Given the description of an element on the screen output the (x, y) to click on. 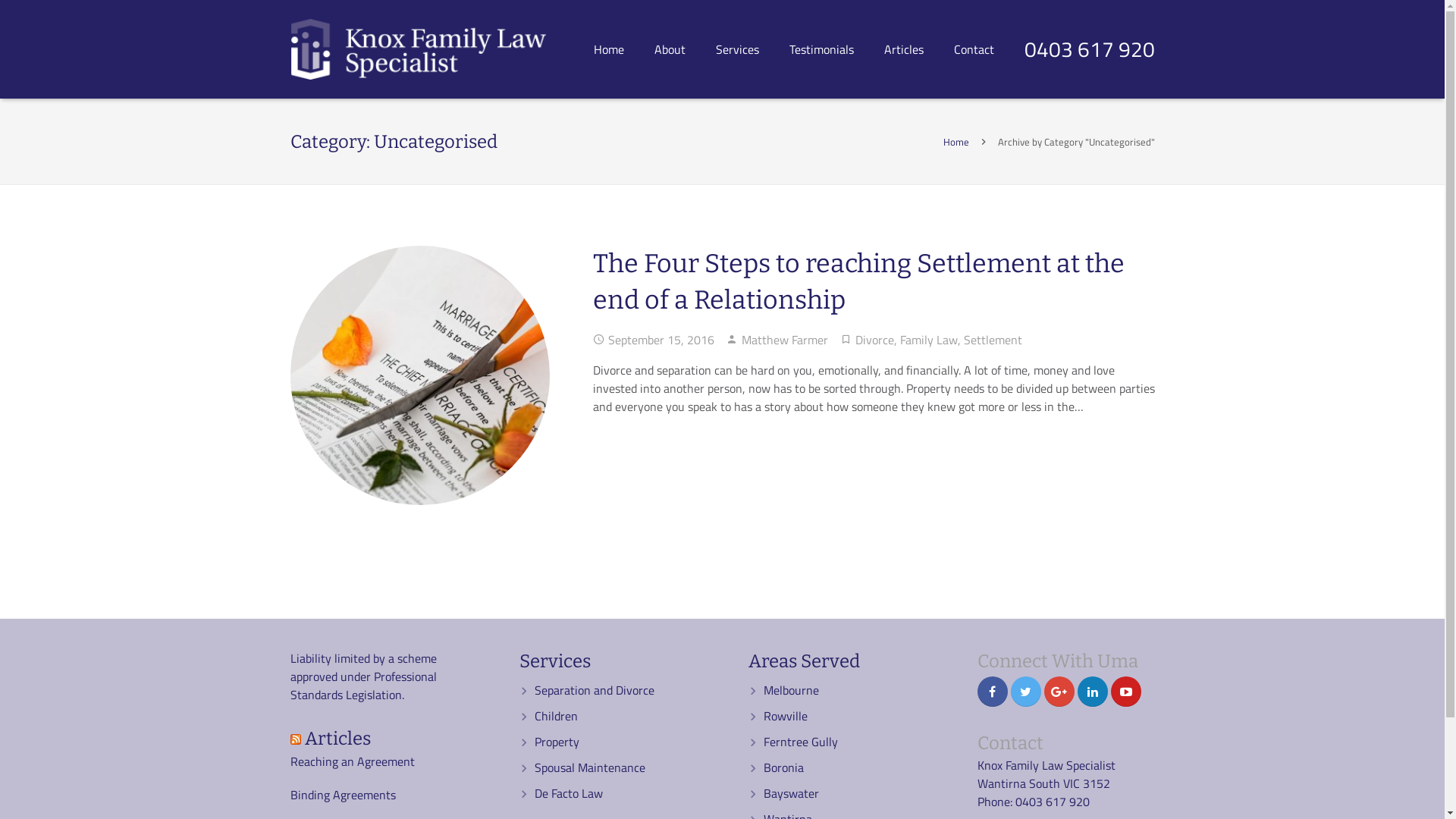
Binding Agreements Element type: text (342, 794)
Ferntree Gully Element type: text (800, 741)
Property Element type: text (556, 741)
Home Element type: text (956, 141)
Home Element type: text (608, 49)
About Element type: text (669, 49)
Children Element type: text (555, 715)
Matthew Farmer Element type: text (784, 339)
Testimonials Element type: text (821, 49)
Melbourne Element type: text (791, 689)
Spousal Maintenance Element type: text (589, 767)
Boronia Element type: text (783, 767)
Articles Element type: text (337, 738)
Divorce Element type: text (874, 339)
Bayswater Element type: text (791, 793)
De Facto Law Element type: text (568, 793)
Reaching an Agreement Element type: text (351, 761)
Family Law Element type: text (928, 339)
Separation and Divorce Element type: text (594, 689)
Articles Element type: text (903, 49)
Services Element type: text (737, 49)
0403 617 920 Element type: text (1089, 48)
Settlement Element type: text (992, 339)
Rowville Element type: text (785, 715)
Contact Element type: text (973, 49)
